Given the description of an element on the screen output the (x, y) to click on. 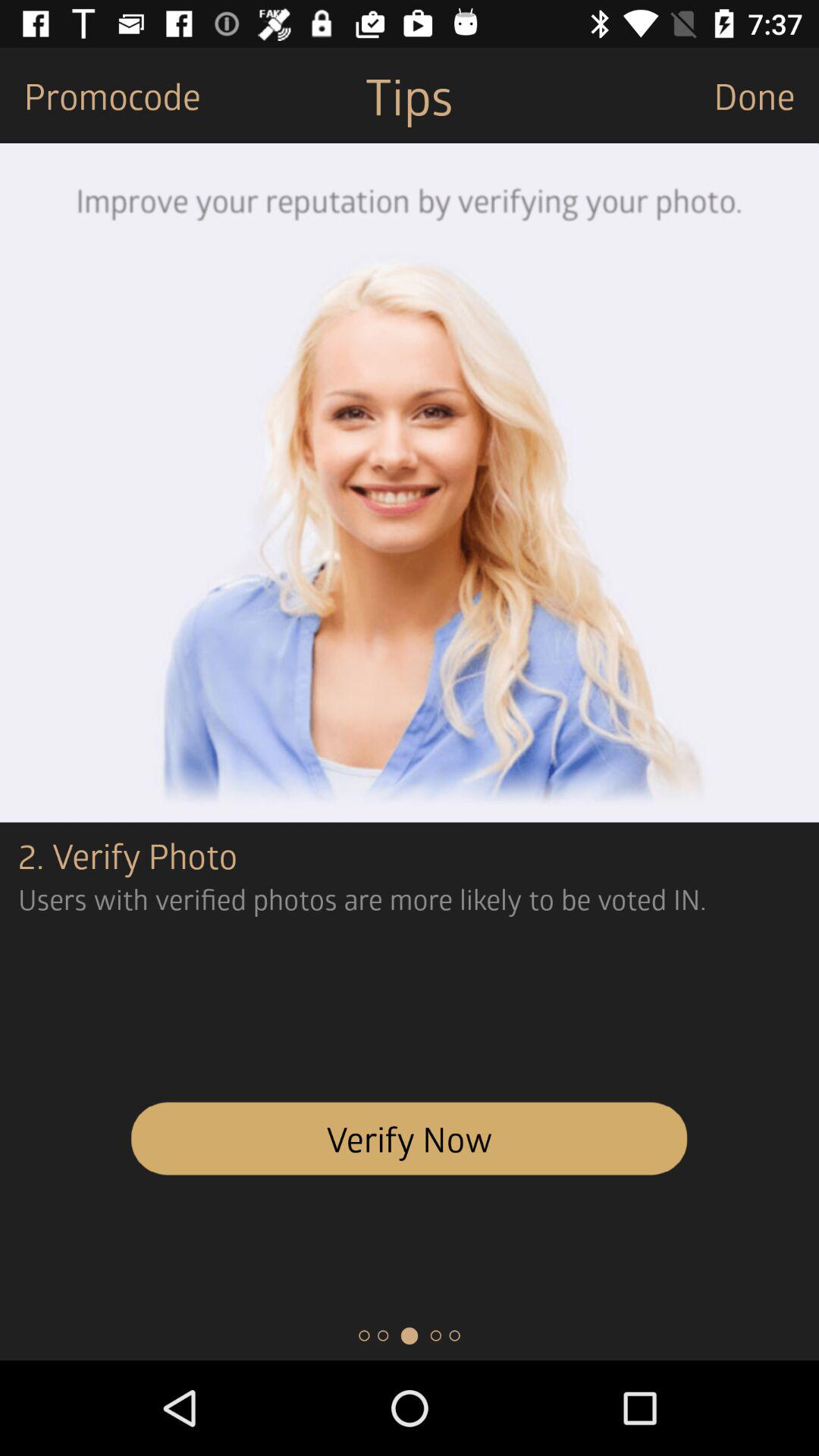
select the icon next to the tips icon (100, 95)
